Given the description of an element on the screen output the (x, y) to click on. 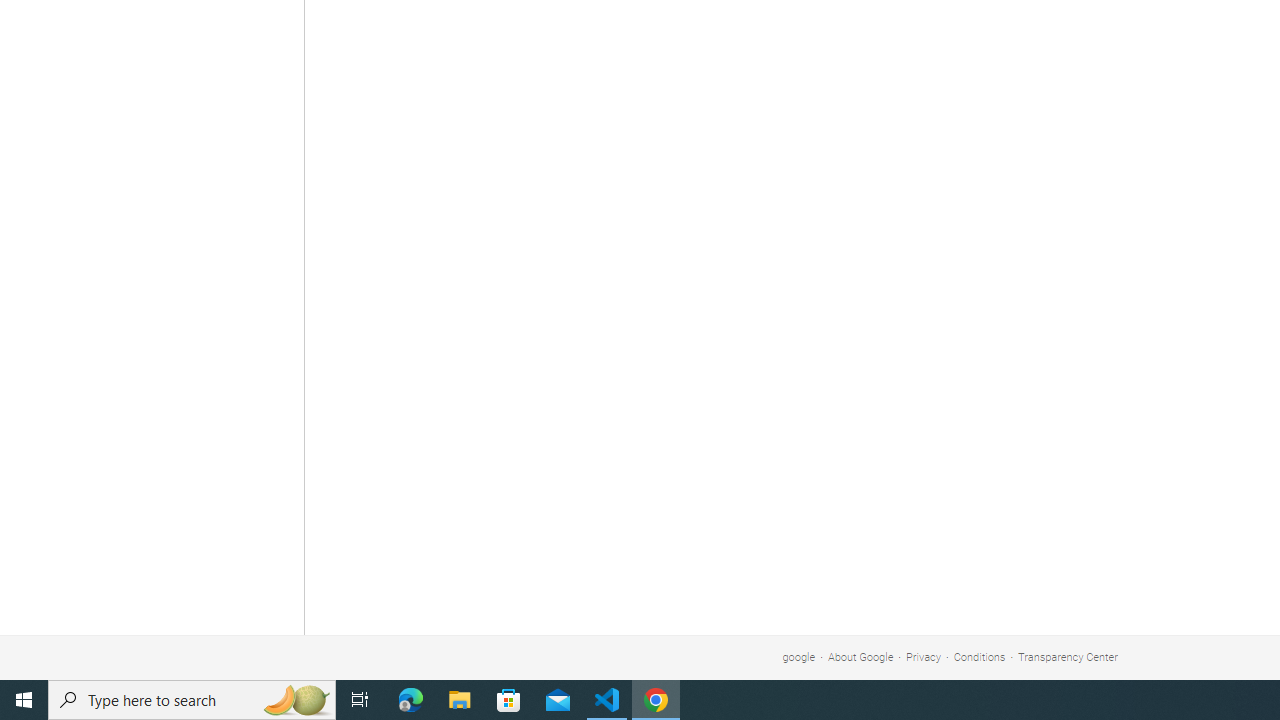
About Google (859, 656)
Visual Studio Code - 1 running window (607, 699)
google (799, 656)
Microsoft Store (509, 699)
Task View (359, 699)
Start (24, 699)
Conditions (979, 656)
Google Chrome - 1 running window (656, 699)
File Explorer (460, 699)
Transparency Center (1067, 656)
Type here to search (191, 699)
Search highlights icon opens search home window (295, 699)
Microsoft Edge (411, 699)
